Given the description of an element on the screen output the (x, y) to click on. 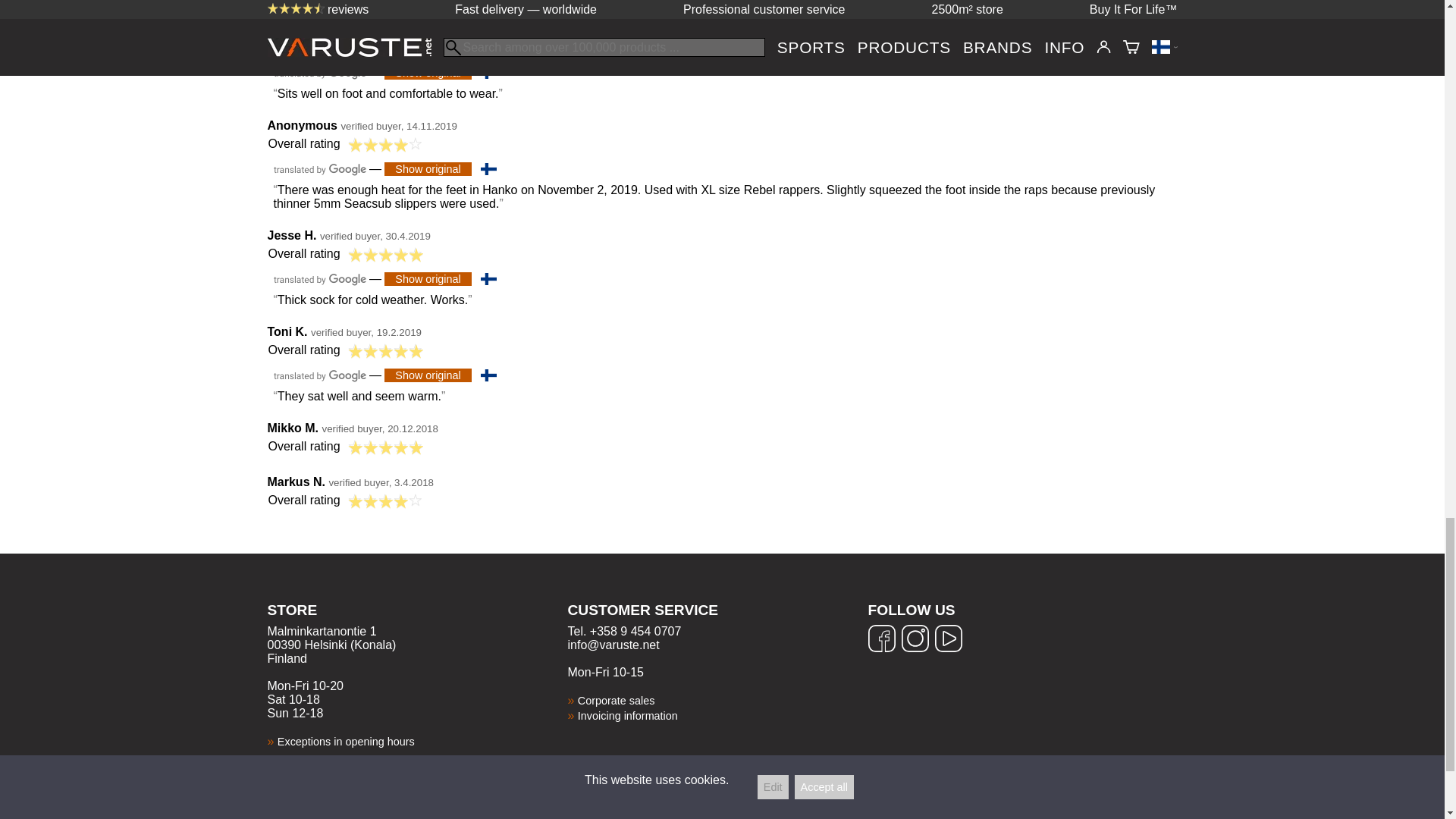
CUSTOMER SERVICE (717, 619)
Finnish (488, 278)
Finnish (488, 72)
Finnish (488, 168)
Finnish (488, 375)
Exceptions in opening hours (346, 741)
